Given the description of an element on the screen output the (x, y) to click on. 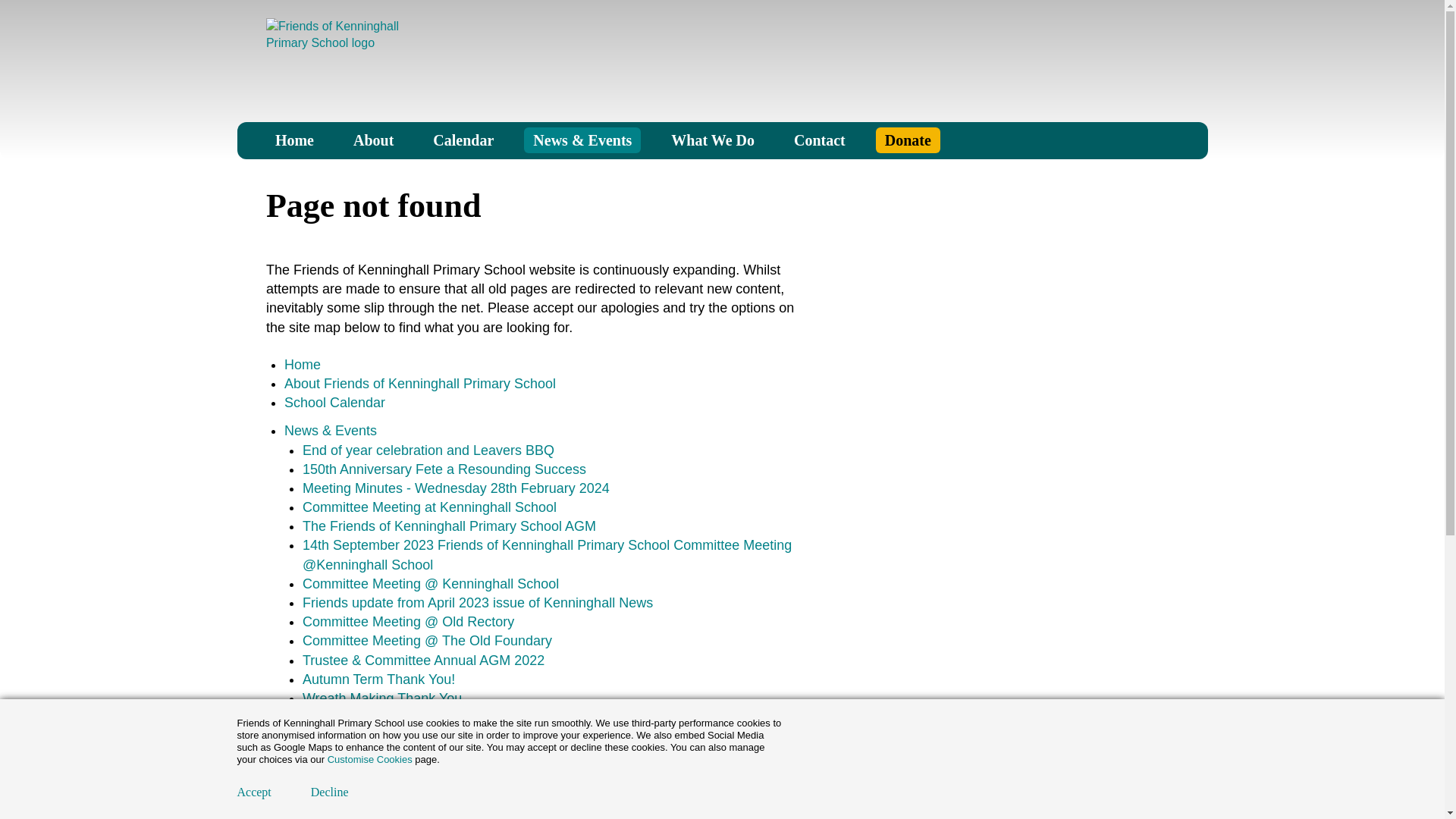
Meeting Minutes - Wednesday 28th February 2024 (456, 488)
Friends update from April 2023 issue of Kenninghall News (477, 602)
The Friends of Kenninghall Primary School AGM (448, 525)
What We Do (712, 140)
150th Anniversary Fete a Resounding Success (444, 468)
Donate (908, 140)
Committee EGM (352, 812)
About Friends of Kenninghall Primary School (419, 383)
About (373, 140)
Wreath Making Thank You (381, 698)
School Calendar (334, 402)
Home (294, 140)
Committee Meeting at Kenninghall School (429, 507)
Calendar (462, 140)
Autumn Term Thank You! (378, 679)
